Given the description of an element on the screen output the (x, y) to click on. 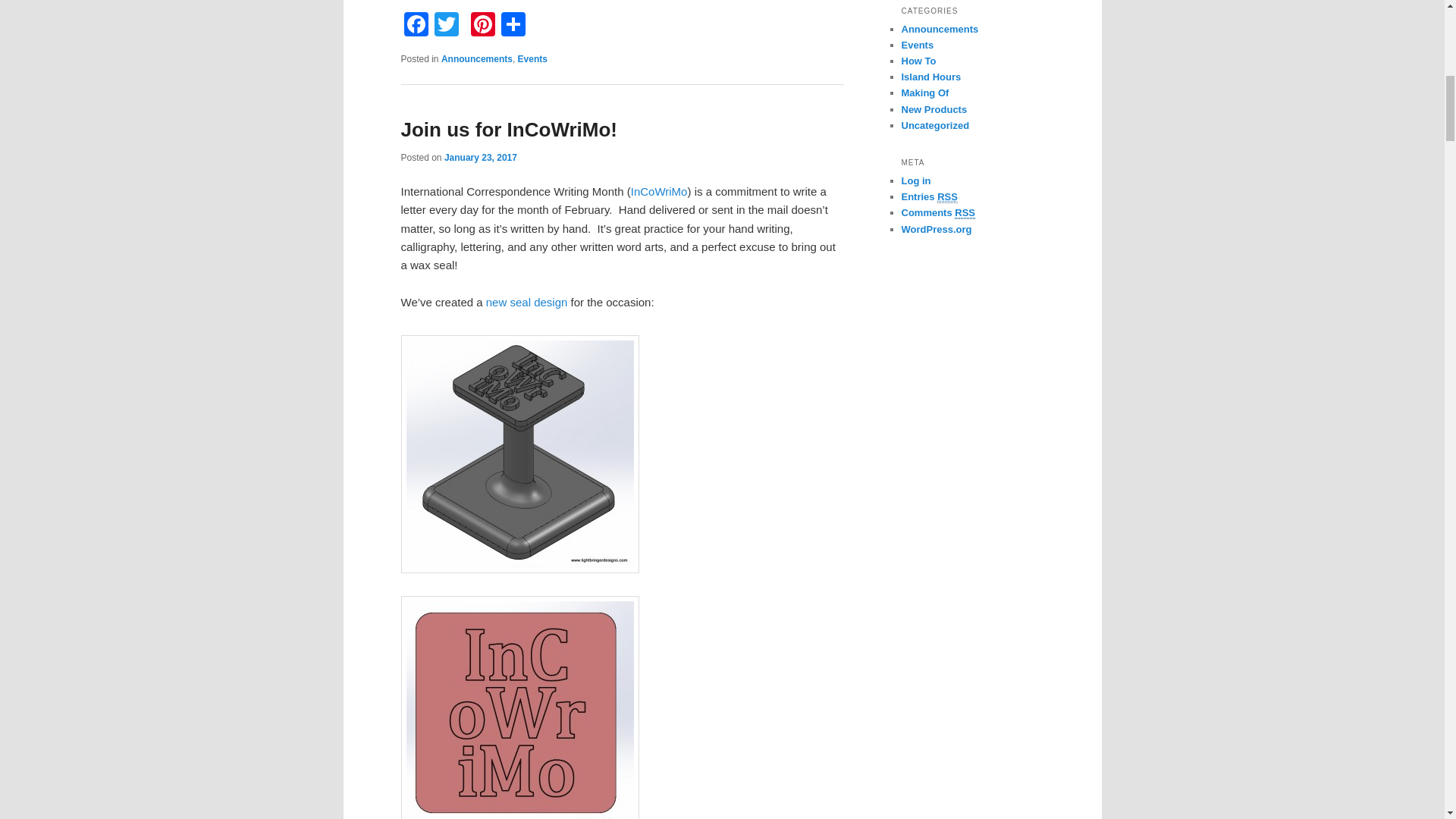
Pinterest (482, 26)
7:00 am (480, 157)
Twitter (445, 26)
Events (532, 59)
new seal design (526, 301)
InCoWriMo (658, 191)
Twitter (445, 26)
Join us for InCoWriMo! (508, 128)
Announcements (476, 59)
Pinterest (482, 26)
